Given the description of an element on the screen output the (x, y) to click on. 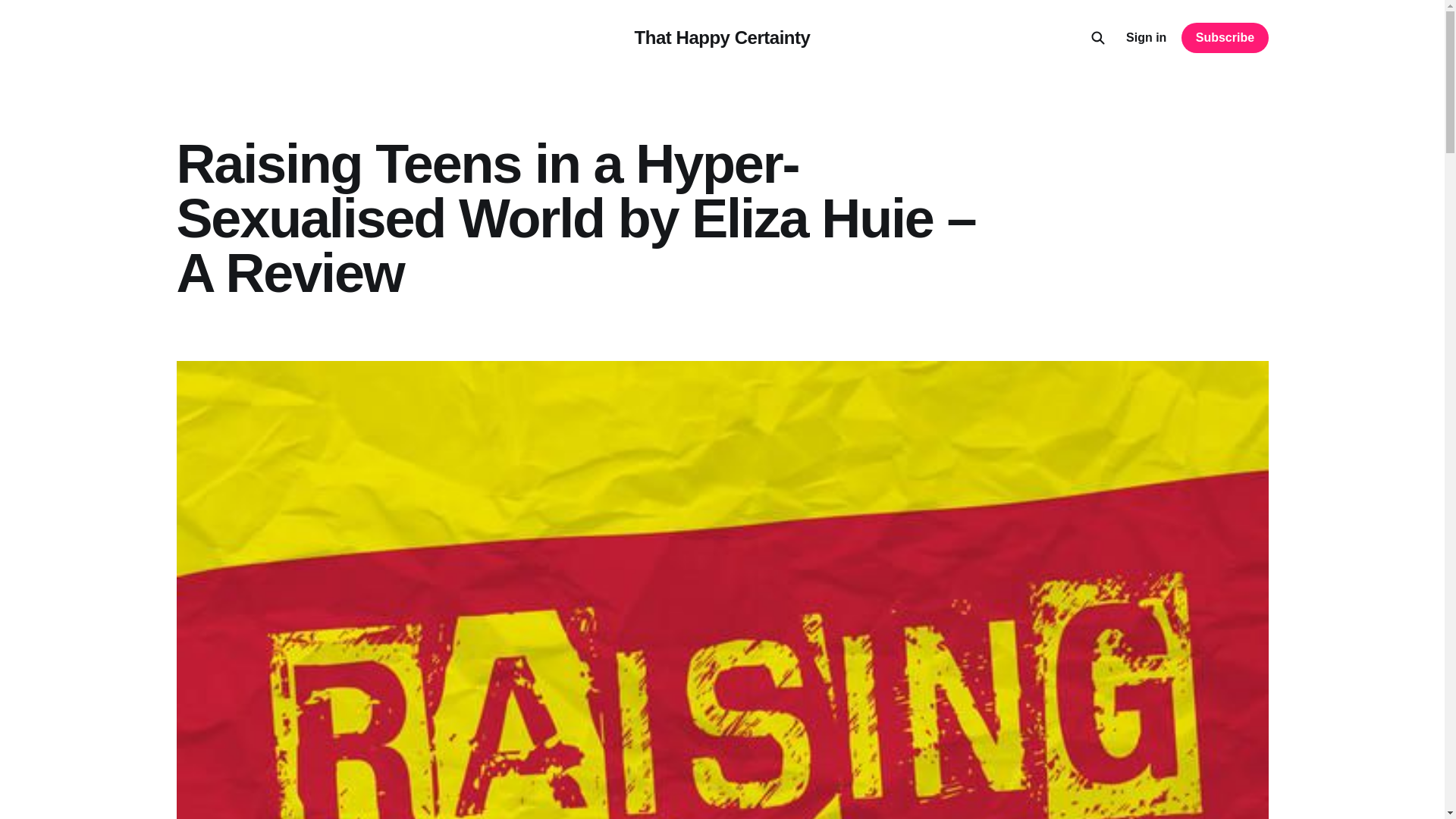
Sign in (1145, 37)
Subscribe (1224, 37)
That Happy Certainty (722, 37)
